Given the description of an element on the screen output the (x, y) to click on. 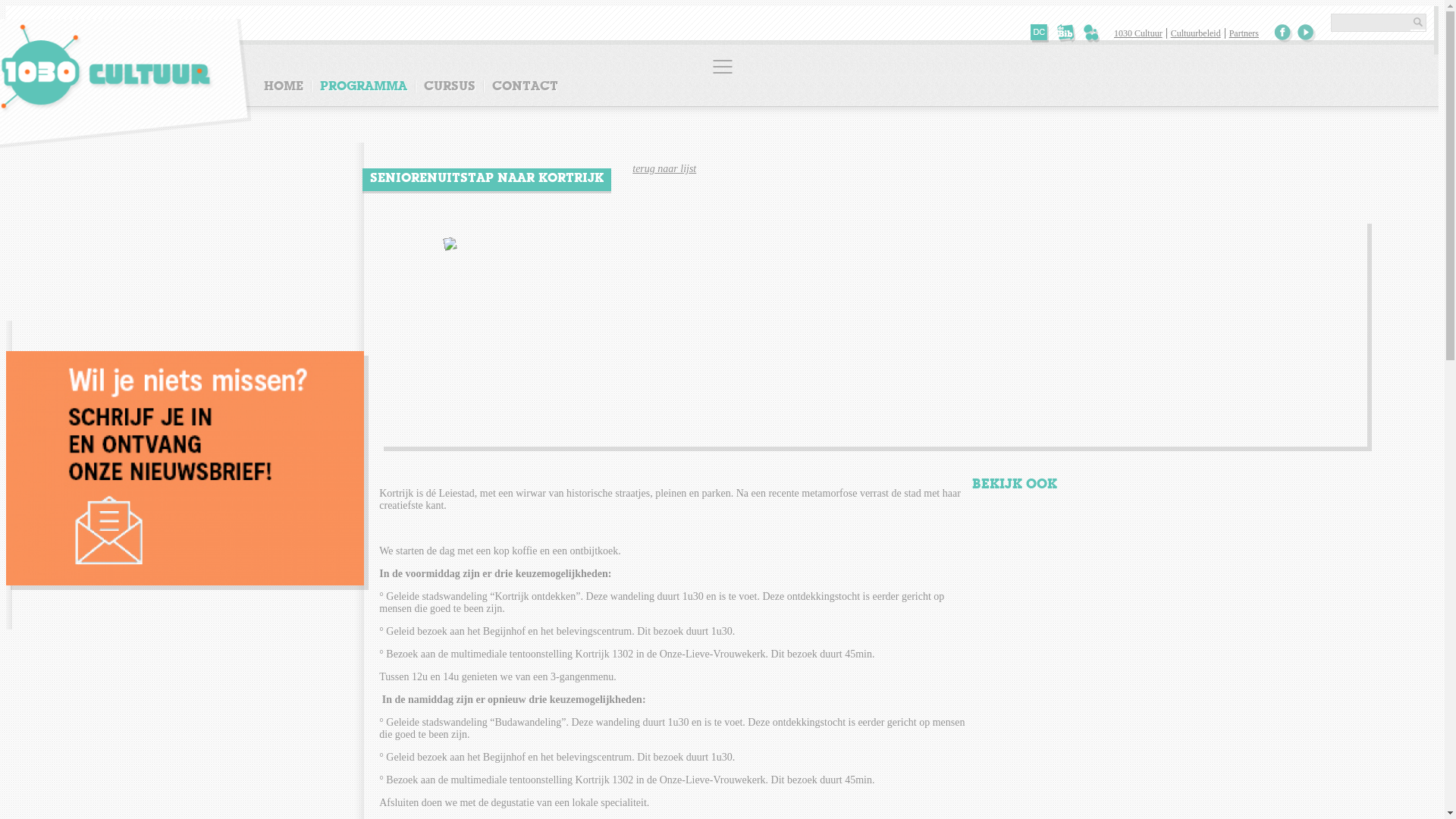
de bib Element type: text (1066, 33)
de kriekelaar Element type: text (1092, 33)
1030 Cultuur Element type: text (1139, 33)
terug naar lijst Element type: text (664, 168)
Cultuurbeleid Element type: text (1195, 33)
Facebook Element type: text (1283, 33)
CONTACT Element type: text (524, 86)
PROGRAMMA Element type: text (363, 86)
CURSUS Element type: text (449, 86)
Youtube Element type: text (1305, 33)
Partners Element type: text (1243, 33)
HOME Element type: text (287, 86)
de dienst cultuur Element type: text (1039, 33)
